Given the description of an element on the screen output the (x, y) to click on. 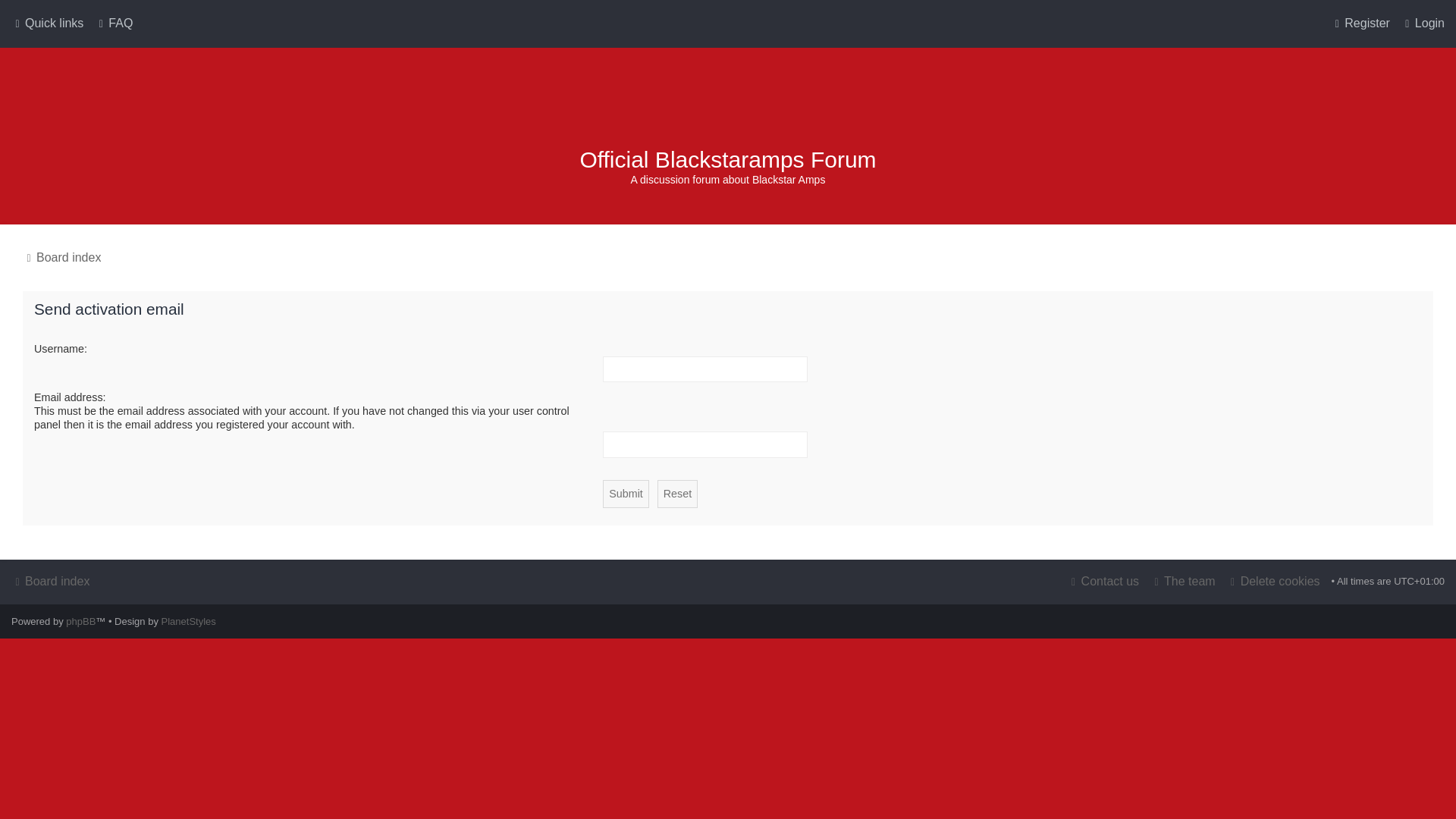
Reset (677, 493)
Frequently Asked Questions (113, 23)
The team (1182, 581)
Delete cookies (1273, 581)
Board index (727, 104)
Login (1422, 23)
PlanetStyles (188, 621)
Login (1422, 23)
Submit (625, 493)
Register (1360, 23)
Quick links (46, 23)
Submit (625, 493)
FAQ (113, 23)
Contact us (1102, 581)
phpBB (80, 621)
